Given the description of an element on the screen output the (x, y) to click on. 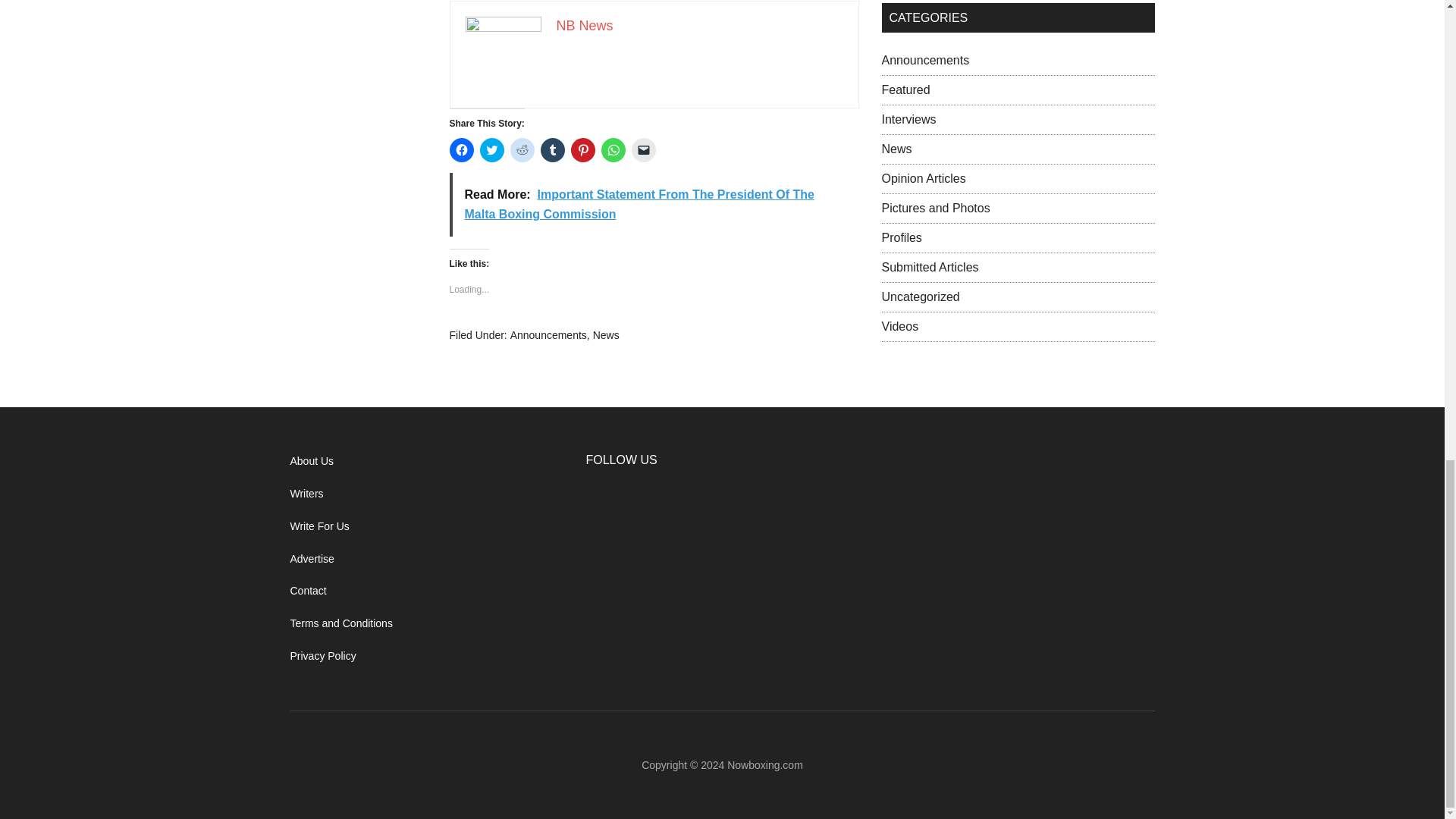
Click to share on WhatsApp (611, 150)
Click to share on Pinterest (582, 150)
Click to share on Twitter (491, 150)
Announcements (548, 335)
Click to share on Tumblr (552, 150)
News (606, 335)
Click to share on Facebook (460, 150)
Click to share on Reddit (521, 150)
NB News (584, 25)
